Given the description of an element on the screen output the (x, y) to click on. 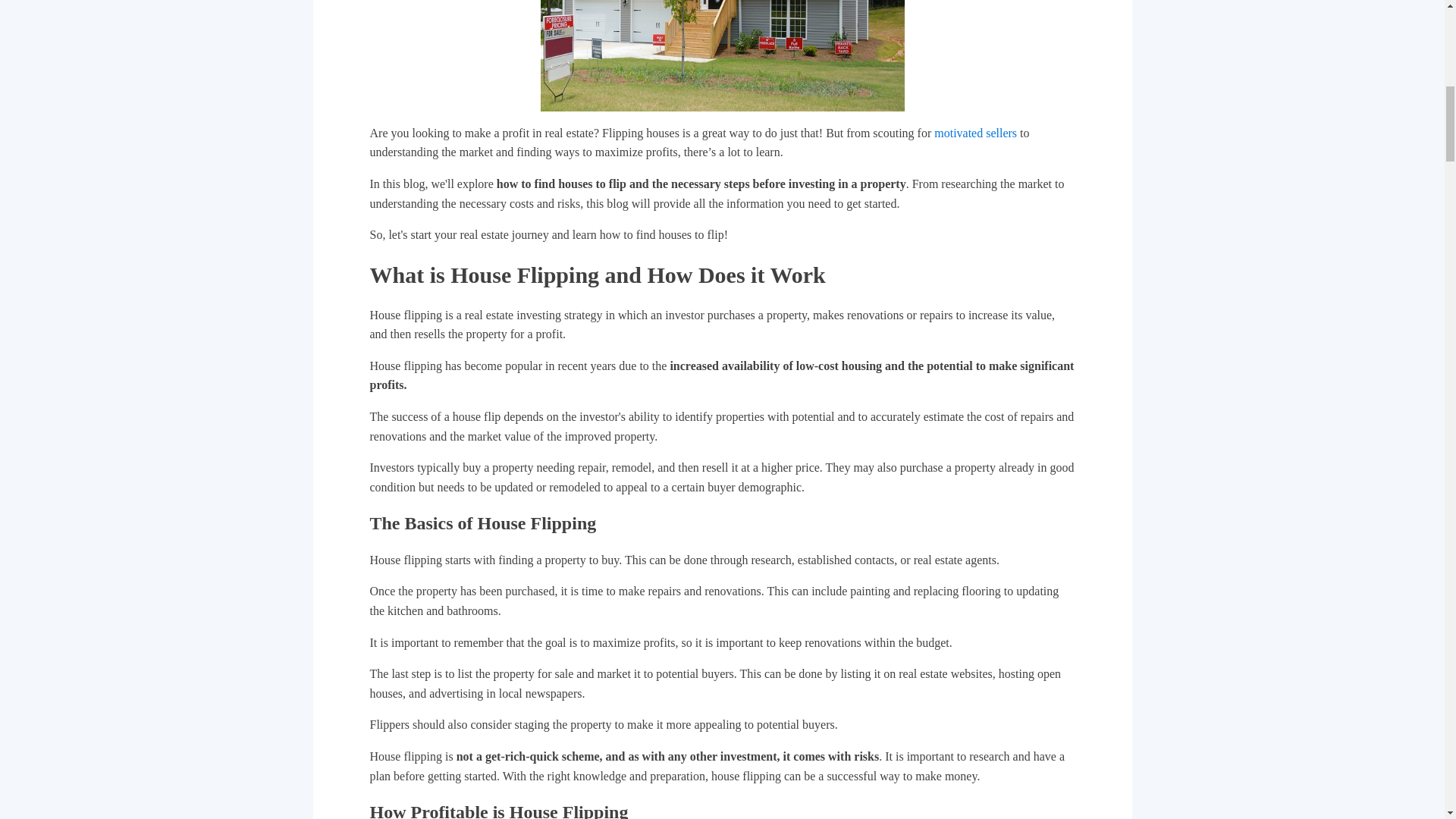
motivated sellers (975, 132)
